Given the description of an element on the screen output the (x, y) to click on. 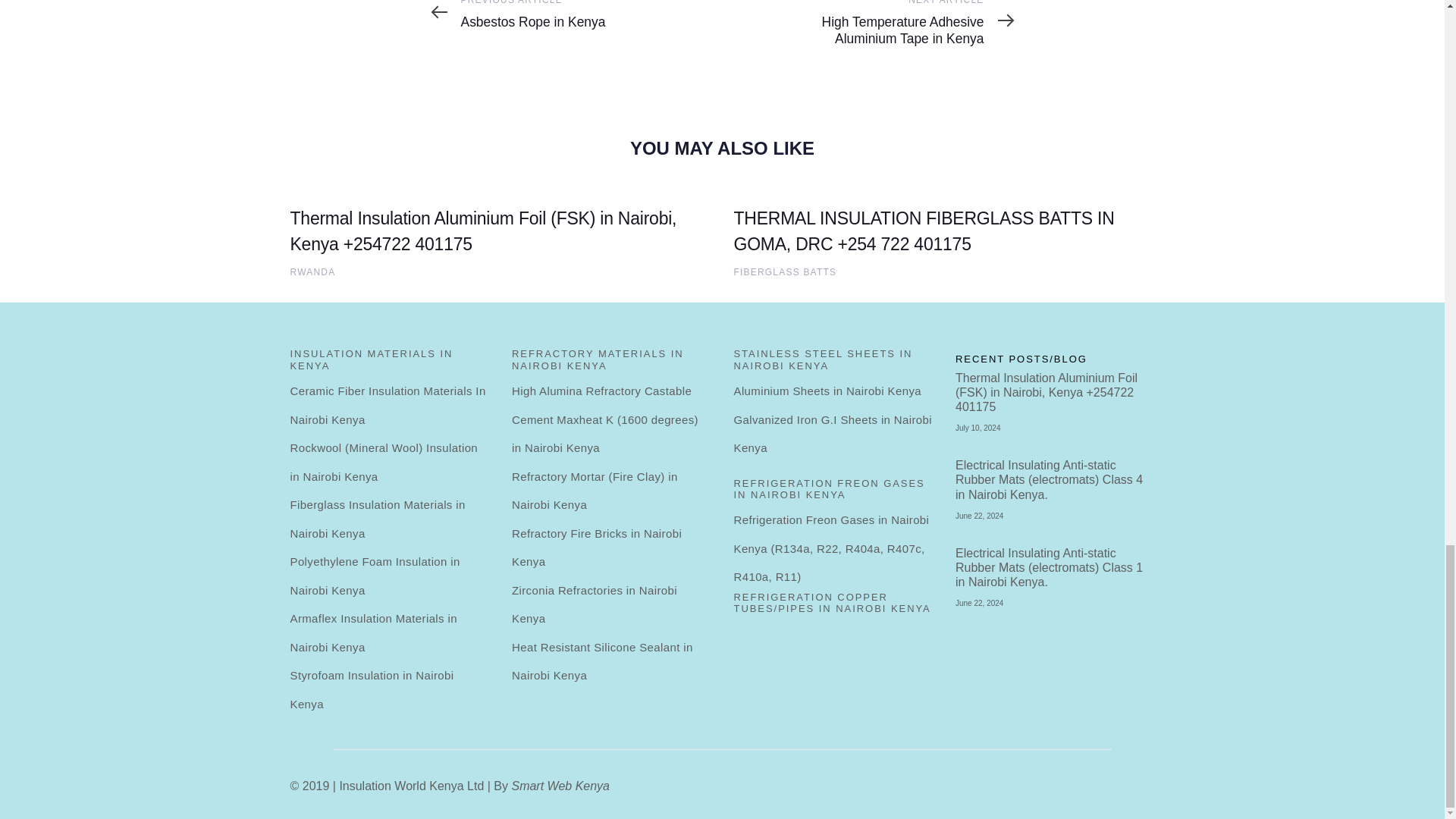
Insulation Materials in Nairobi Kenya (389, 365)
INSULATION MATERIALS IN KENYA (389, 365)
Refrigeration Freon Gases in Nairobi Kenya (533, 15)
RWANDA (833, 494)
FIBERGLASS BATTS (311, 271)
Ceramic Fiber Insulation Materials In Nairobi Kenya (785, 271)
Refractory Materials in Nairobi Kenya (389, 405)
